Given the description of an element on the screen output the (x, y) to click on. 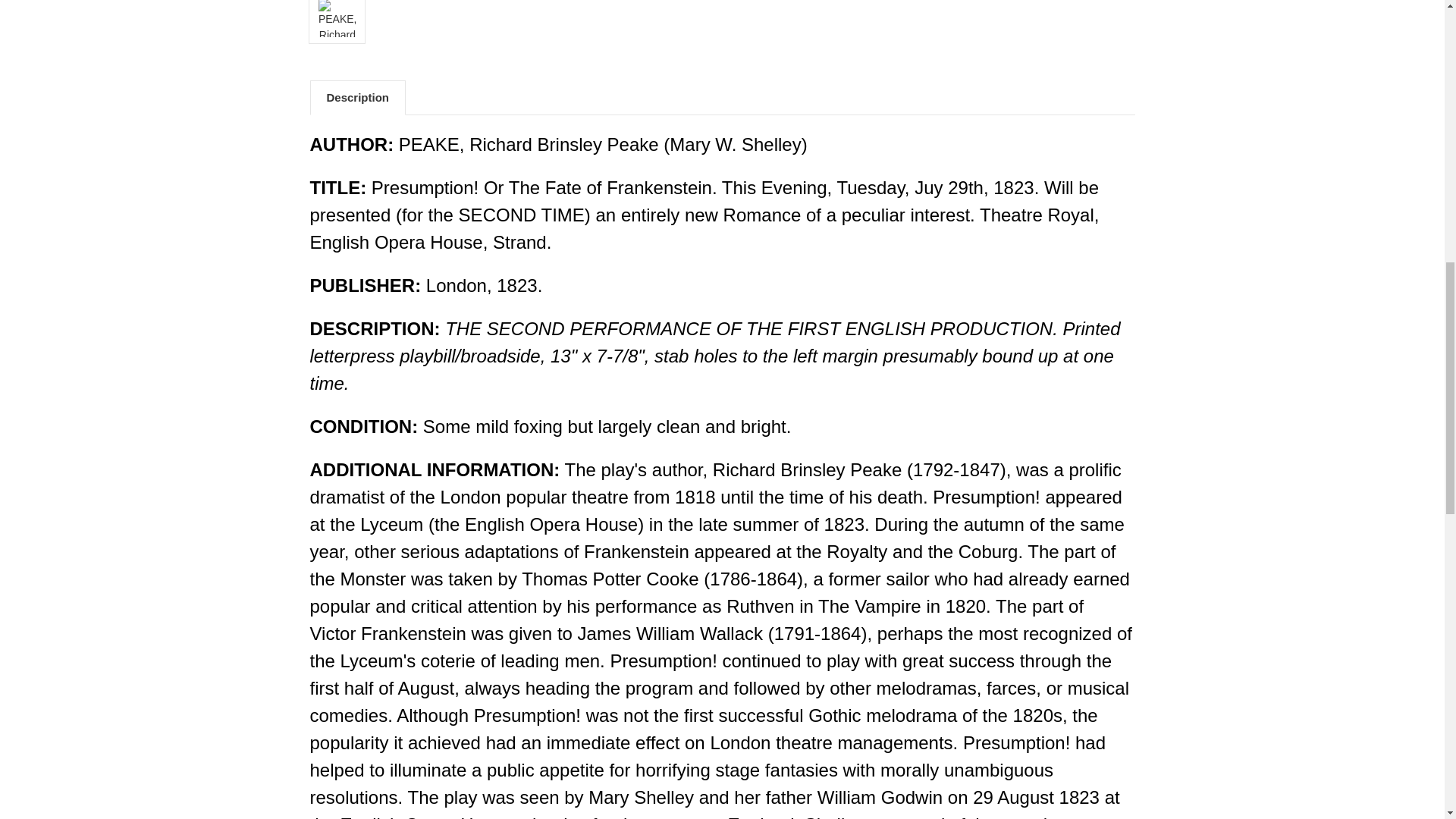
Description (358, 97)
